Given the description of an element on the screen output the (x, y) to click on. 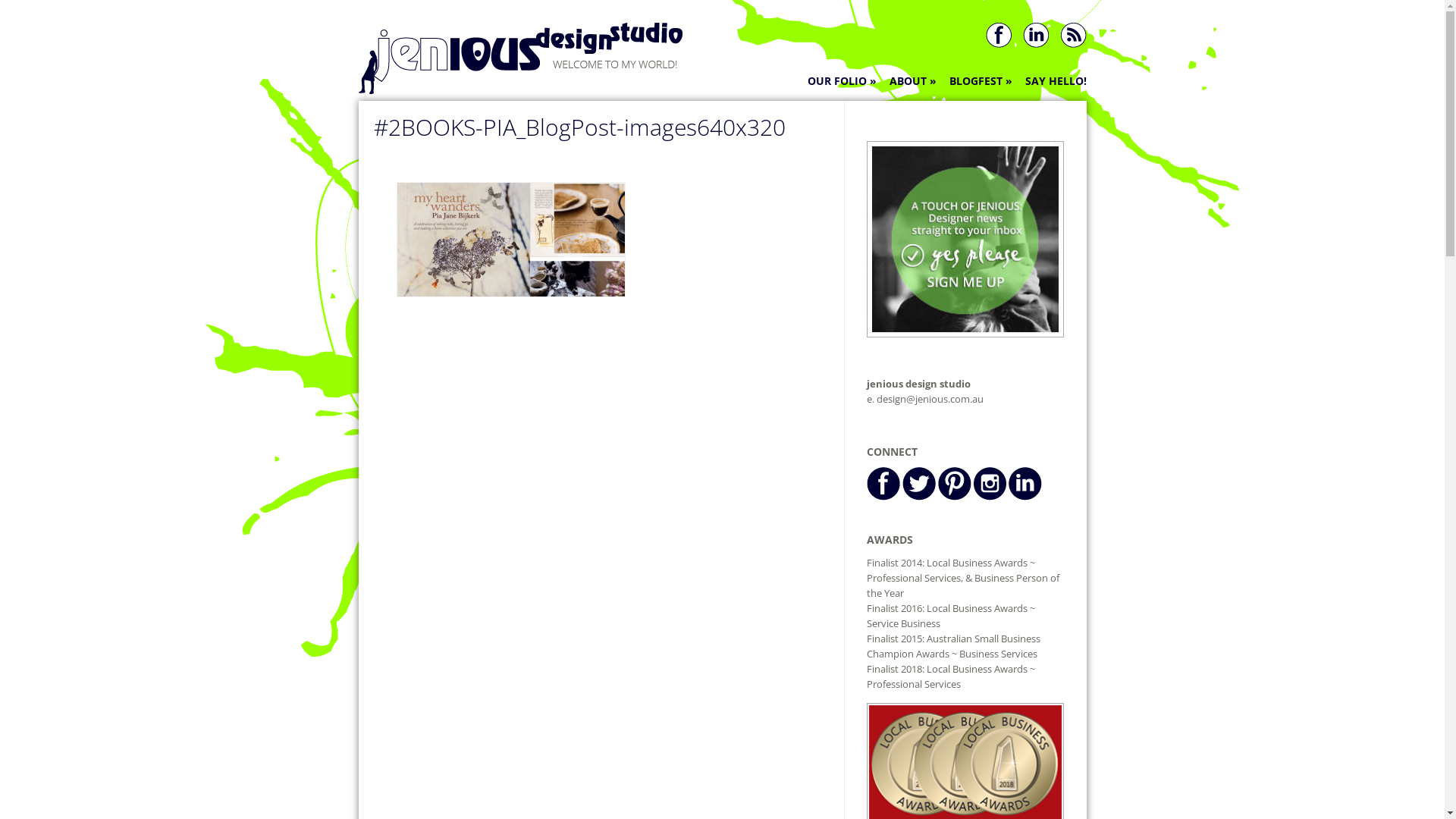
Facebook Element type: hover (999, 43)
OUR FOLIO Element type: text (840, 81)
Linkedin Element type: hover (1035, 43)
RSS feed Element type: hover (1072, 43)
SAY HELLO! Element type: text (1055, 81)
design@jenious.com.au Element type: text (929, 398)
BLOGFEST Element type: text (980, 81)
ABOUT Element type: text (911, 81)
Jenious Element type: hover (519, 83)
